Given the description of an element on the screen output the (x, y) to click on. 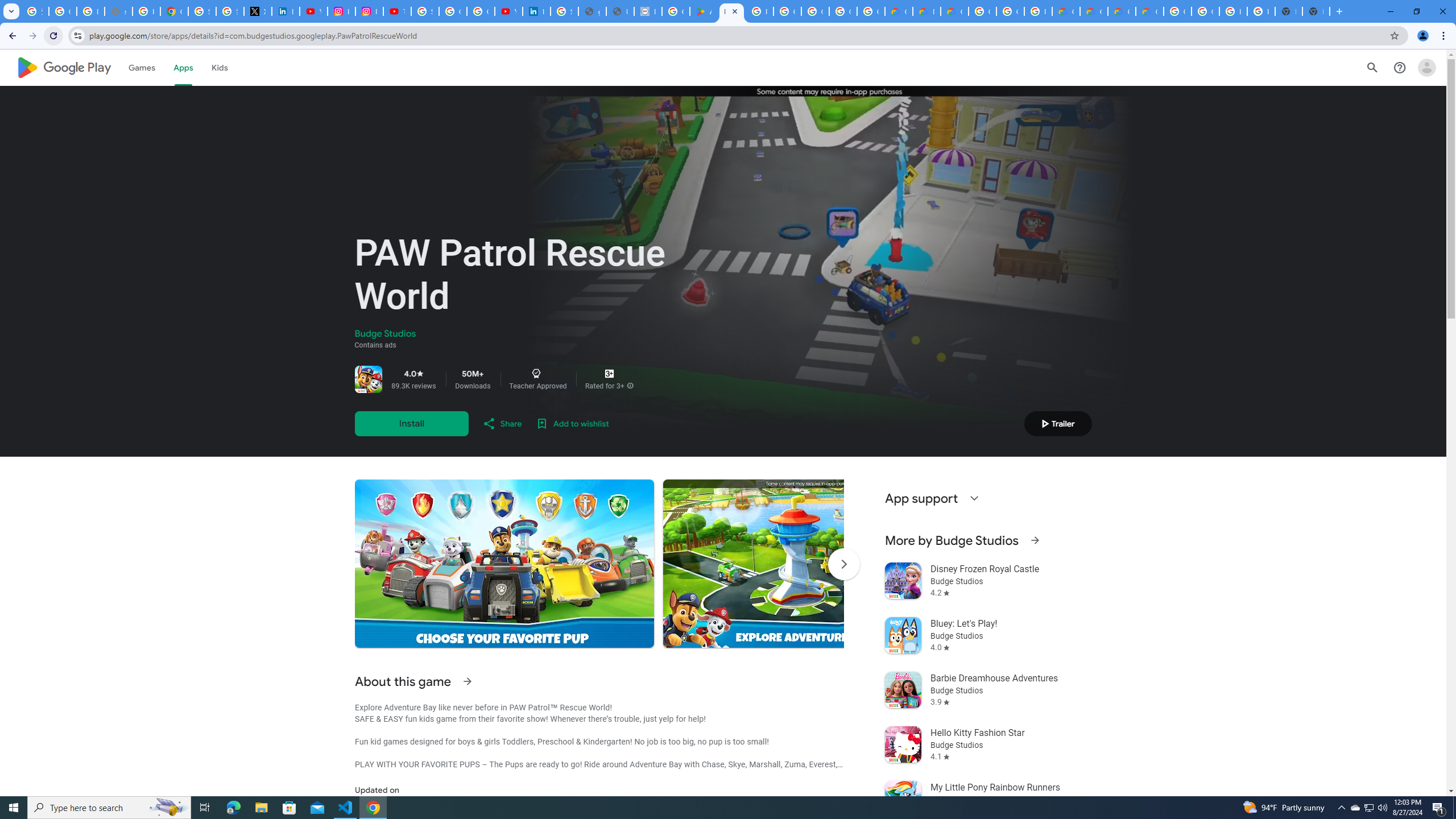
LinkedIn Privacy Policy (285, 11)
Sign in - Google Accounts (425, 11)
Google Workspace - Specific Terms (870, 11)
View site information (77, 35)
Share (502, 422)
support.google.com - Network error (118, 11)
Games (141, 67)
